Given the description of an element on the screen output the (x, y) to click on. 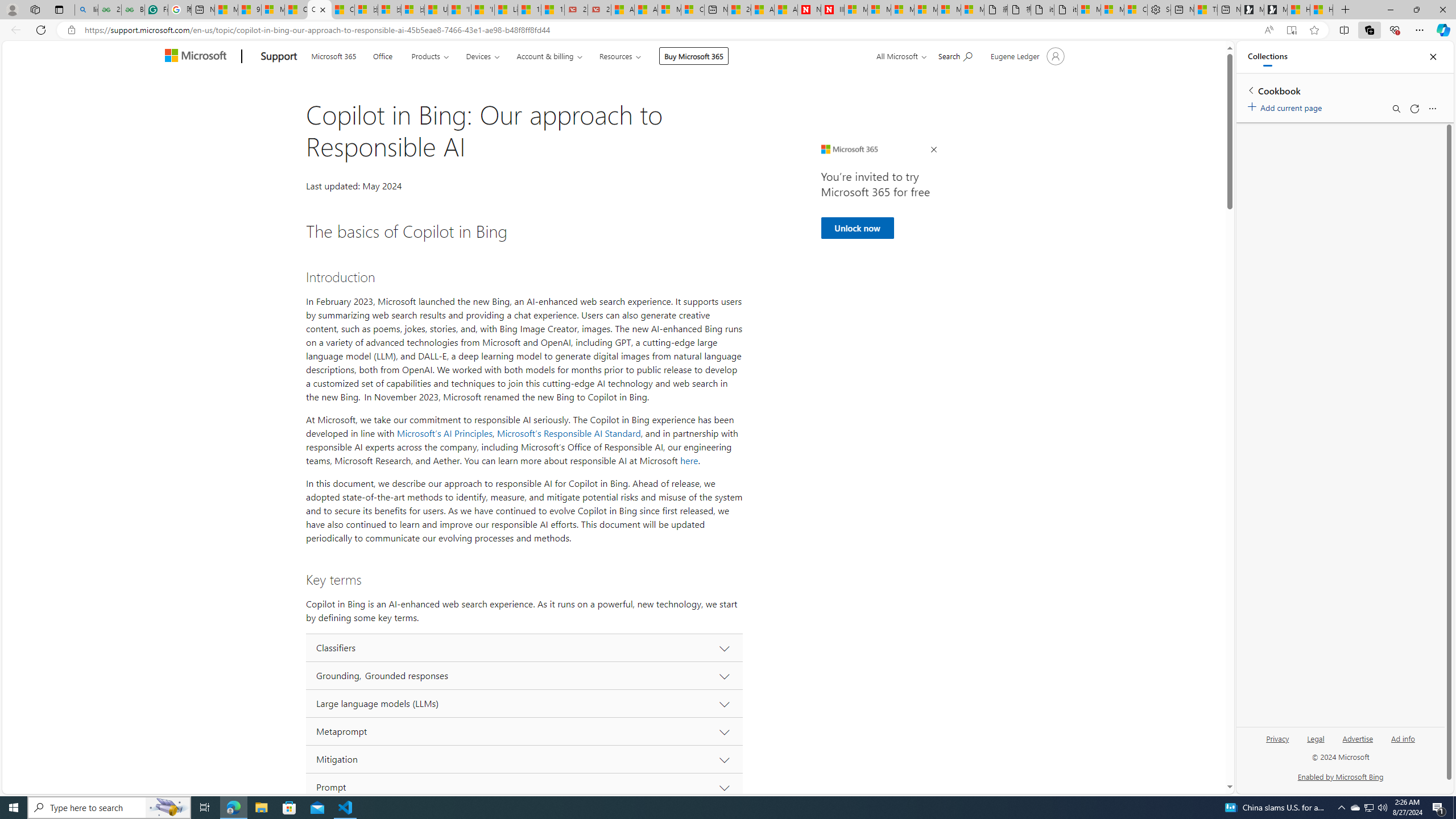
20 Ways to Boost Your Protein Intake at Every Meal (738, 9)
15 Ways Modern Life Contradicts the Teachings of Jesus (552, 9)
Back to list of collections (1250, 90)
Free AI Writing Assistance for Students | Grammarly (156, 9)
